Given the description of an element on the screen output the (x, y) to click on. 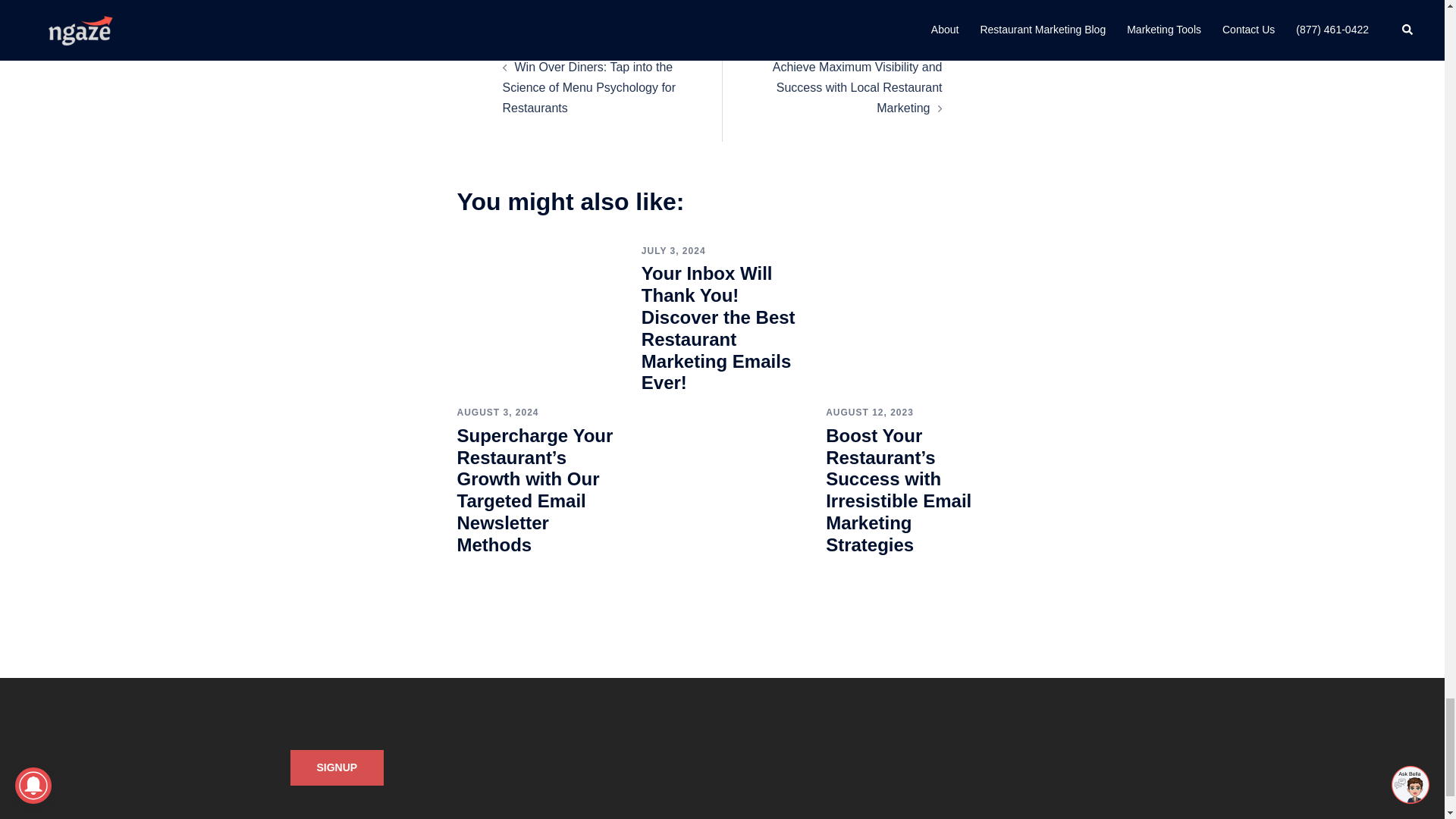
JULY 3, 2024 (674, 250)
AUGUST 12, 2023 (869, 412)
AUGUST 3, 2024 (497, 412)
SIGNUP (336, 768)
